Given the description of an element on the screen output the (x, y) to click on. 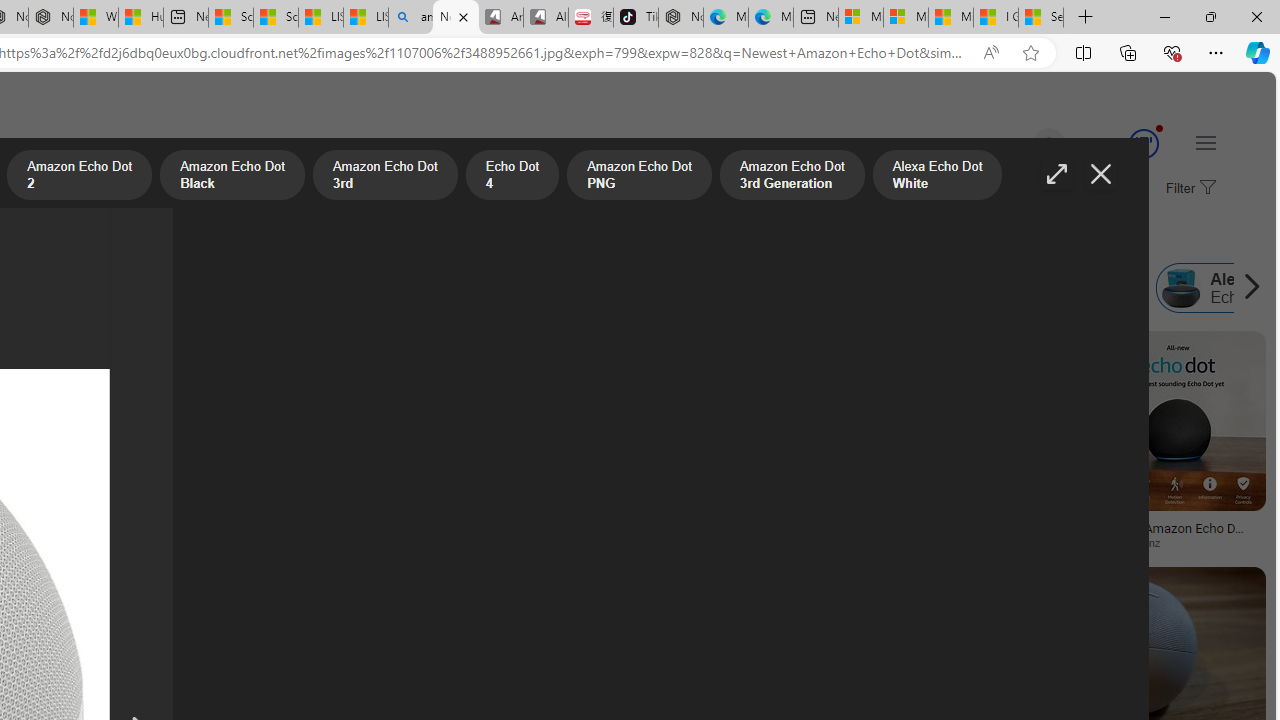
Amazon Echo Dot 3rd Generation (475, 287)
Image result for Newest Amazon Echo Dot (944, 611)
amazon.com.au (628, 541)
Amazon Echo Dot Black (231, 177)
